Given the description of an element on the screen output the (x, y) to click on. 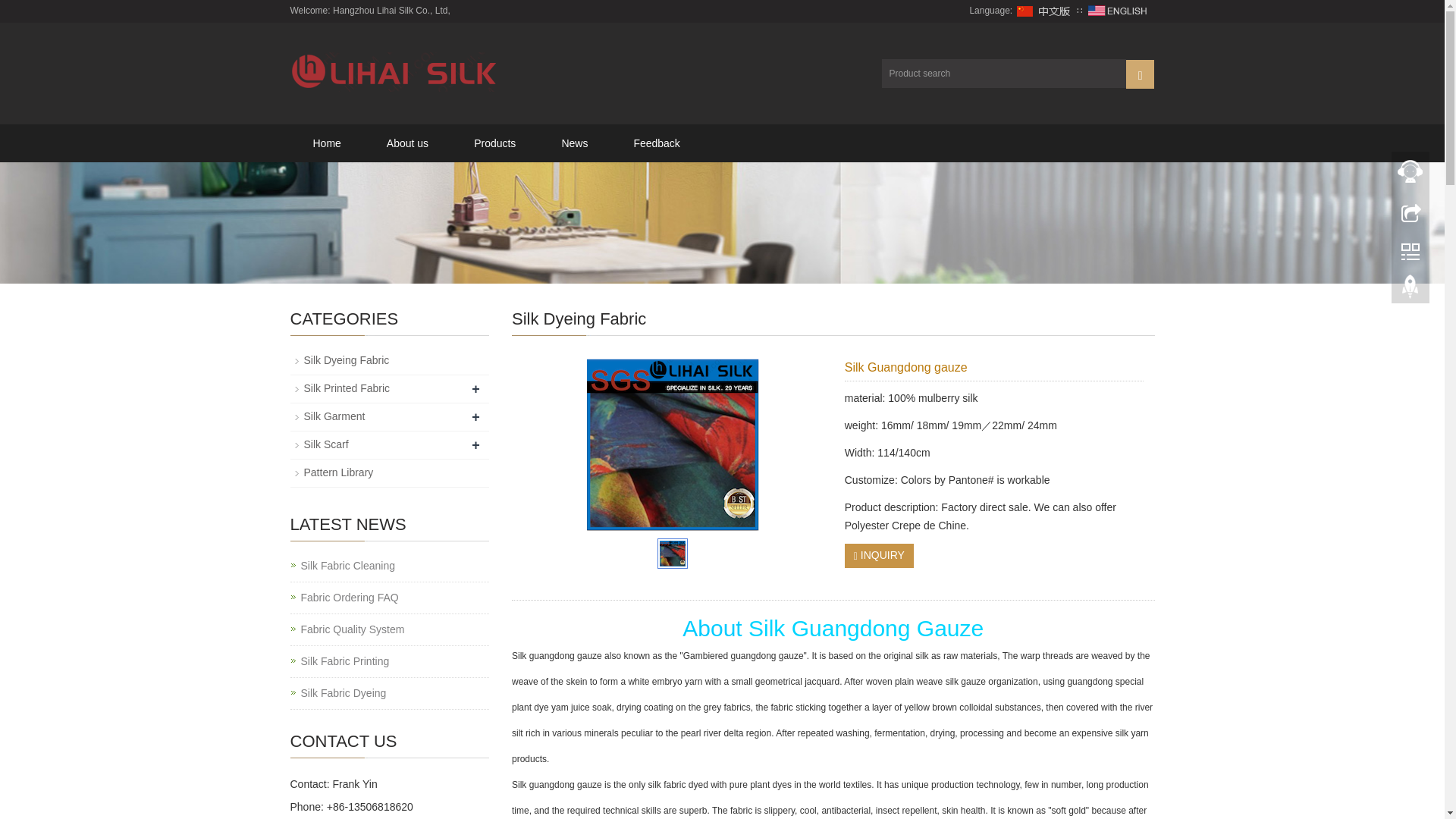
Product search (1139, 72)
Fabric Ordering FAQ (348, 597)
About us (407, 143)
Fabric Quality System (351, 629)
Return to the top (1410, 290)
Silk Fabric Printing (343, 661)
English (1117, 9)
News (574, 143)
Silk Fabric Cleaning (346, 565)
Home (325, 143)
Chinese (1044, 9)
Feedback (655, 143)
INQUIRY (879, 555)
Products (494, 143)
Silk Fabric Dyeing (342, 693)
